Given the description of an element on the screen output the (x, y) to click on. 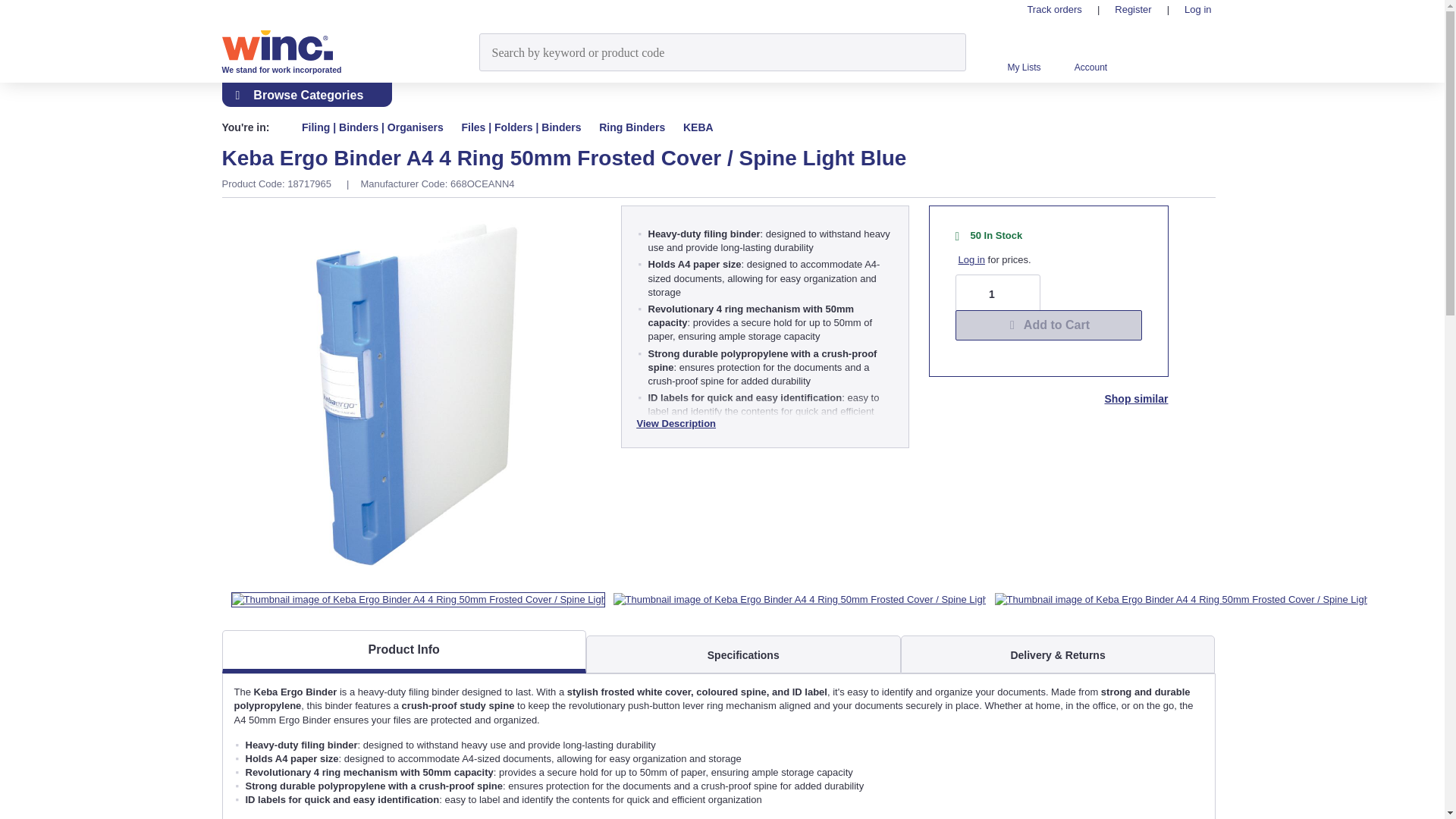
My Lists (1023, 61)
home (276, 127)
View Description (676, 423)
Register (1133, 9)
Log in (971, 259)
Cart (1195, 51)
Ring Binders (631, 127)
Add to Cart (1048, 325)
Track orders (1053, 9)
